Given the description of an element on the screen output the (x, y) to click on. 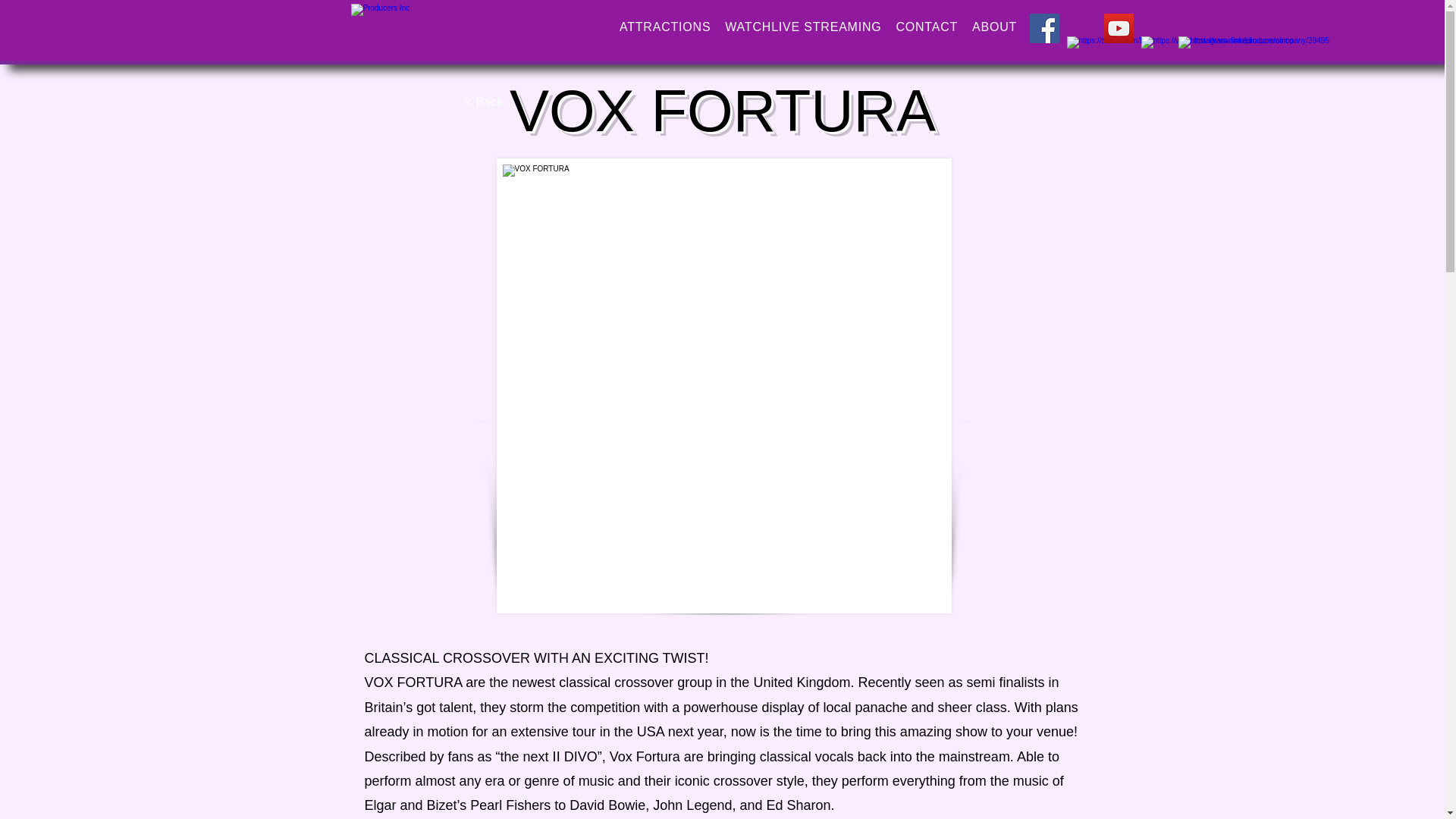
CONTACT (926, 27)
logo-wh.png (476, 29)
ABOUT (995, 27)
WATCHLIVE STREAMING (802, 27)
